Given the description of an element on the screen output the (x, y) to click on. 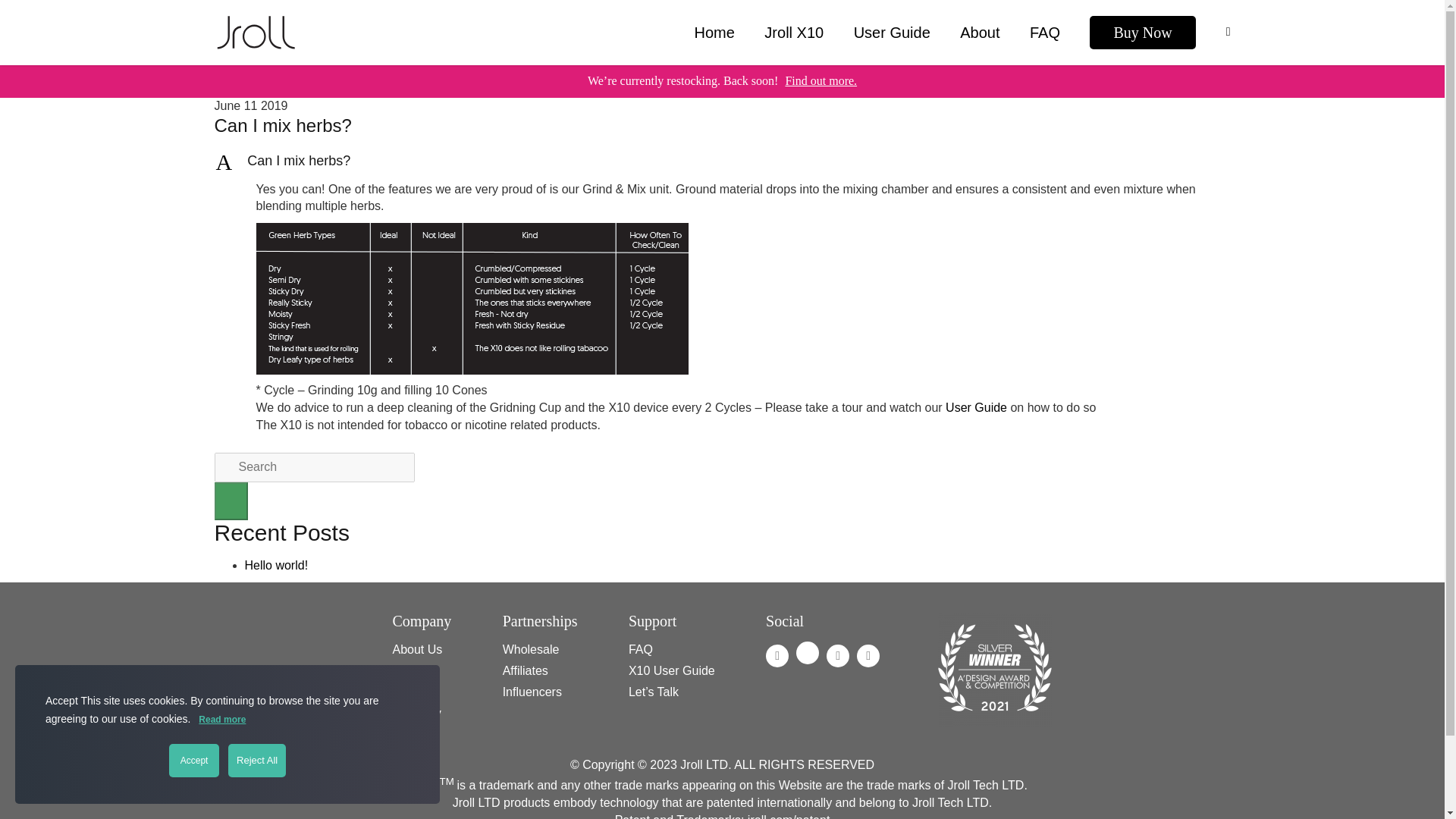
Buy Now (1142, 32)
Careers (414, 670)
User Guide (977, 407)
About (978, 32)
FAQ (1044, 32)
User Guide (891, 32)
X10 User Guide (671, 670)
Influencers (532, 691)
Wholesale (530, 649)
Warranty (722, 161)
About Us (417, 712)
Home (417, 649)
FAQ (714, 32)
Hello world! (640, 649)
